Given the description of an element on the screen output the (x, y) to click on. 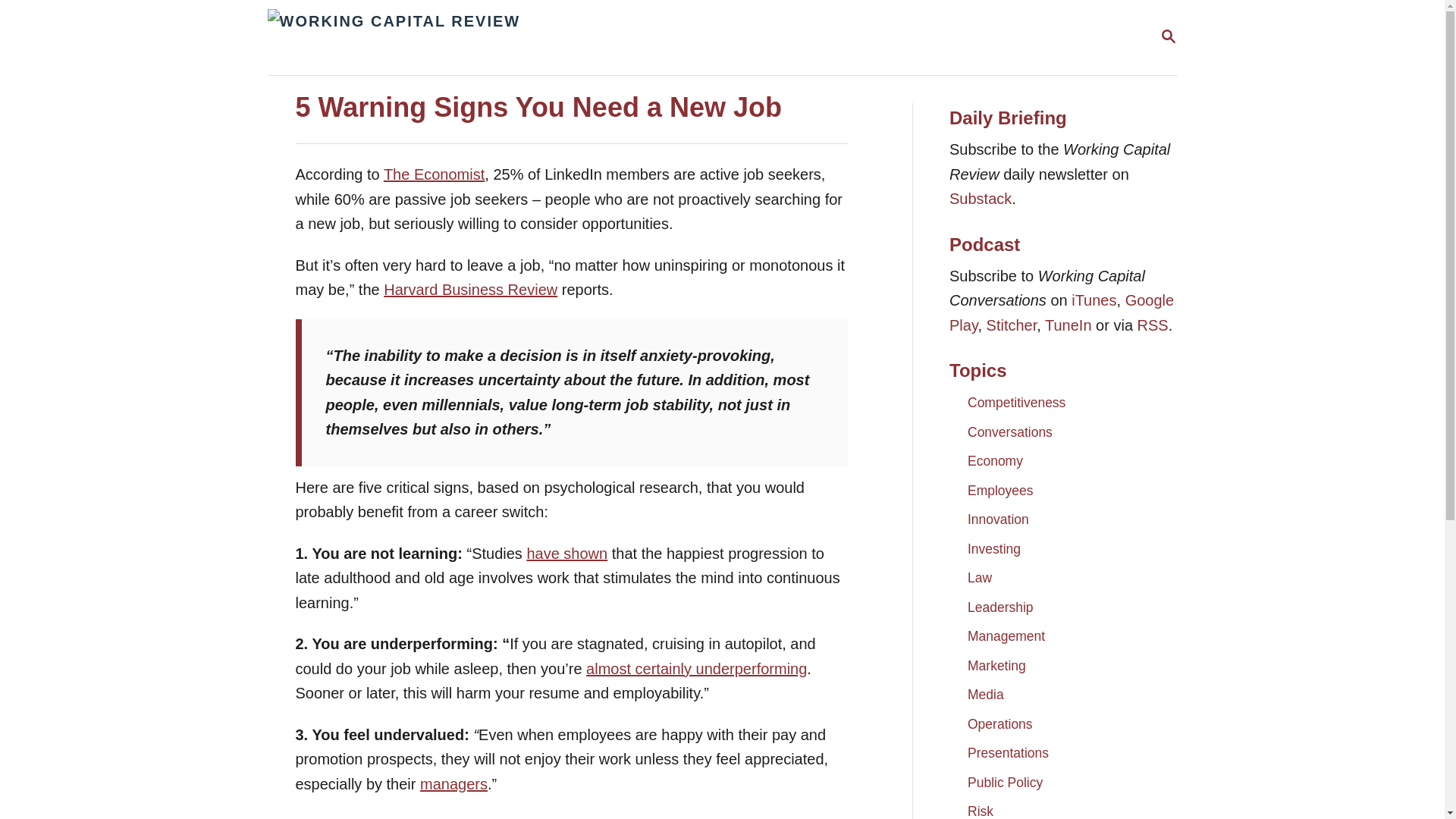
Law (979, 577)
Employees (1000, 489)
Presentations (1008, 752)
iTunes (1093, 299)
Investing (994, 548)
The Economist (1167, 37)
Competitiveness (434, 174)
Economy (1016, 402)
Public Policy (995, 460)
Risk (1005, 782)
managers (980, 806)
Management (453, 782)
Marketing (1005, 635)
Working Capital Review (996, 665)
